Given the description of an element on the screen output the (x, y) to click on. 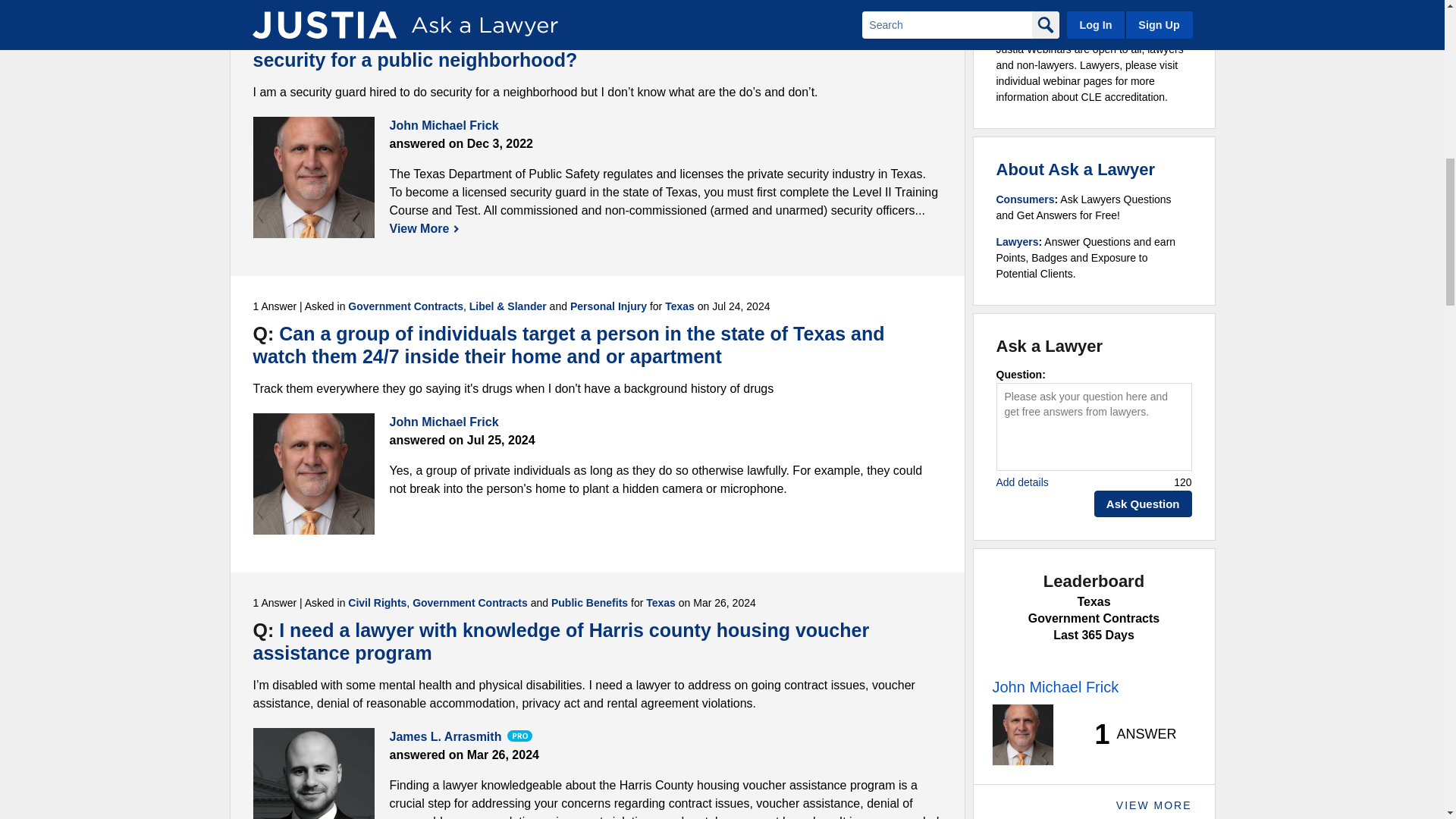
Ask a Lawyer - FAQs - Lawyers (1017, 241)
James L. Arrasmith (313, 773)
John Michael Frick (313, 177)
Ask a Lawyer - FAQs - Consumers (1024, 199)
Ask a Lawyer - Leaderboard - Lawyer Stats (1127, 734)
Ask a Lawyer - Leaderboard - Lawyer Photo (1021, 734)
John Michael Frick (313, 473)
Ask a Lawyer - Leaderboard - Lawyer Name (1054, 686)
